Given the description of an element on the screen output the (x, y) to click on. 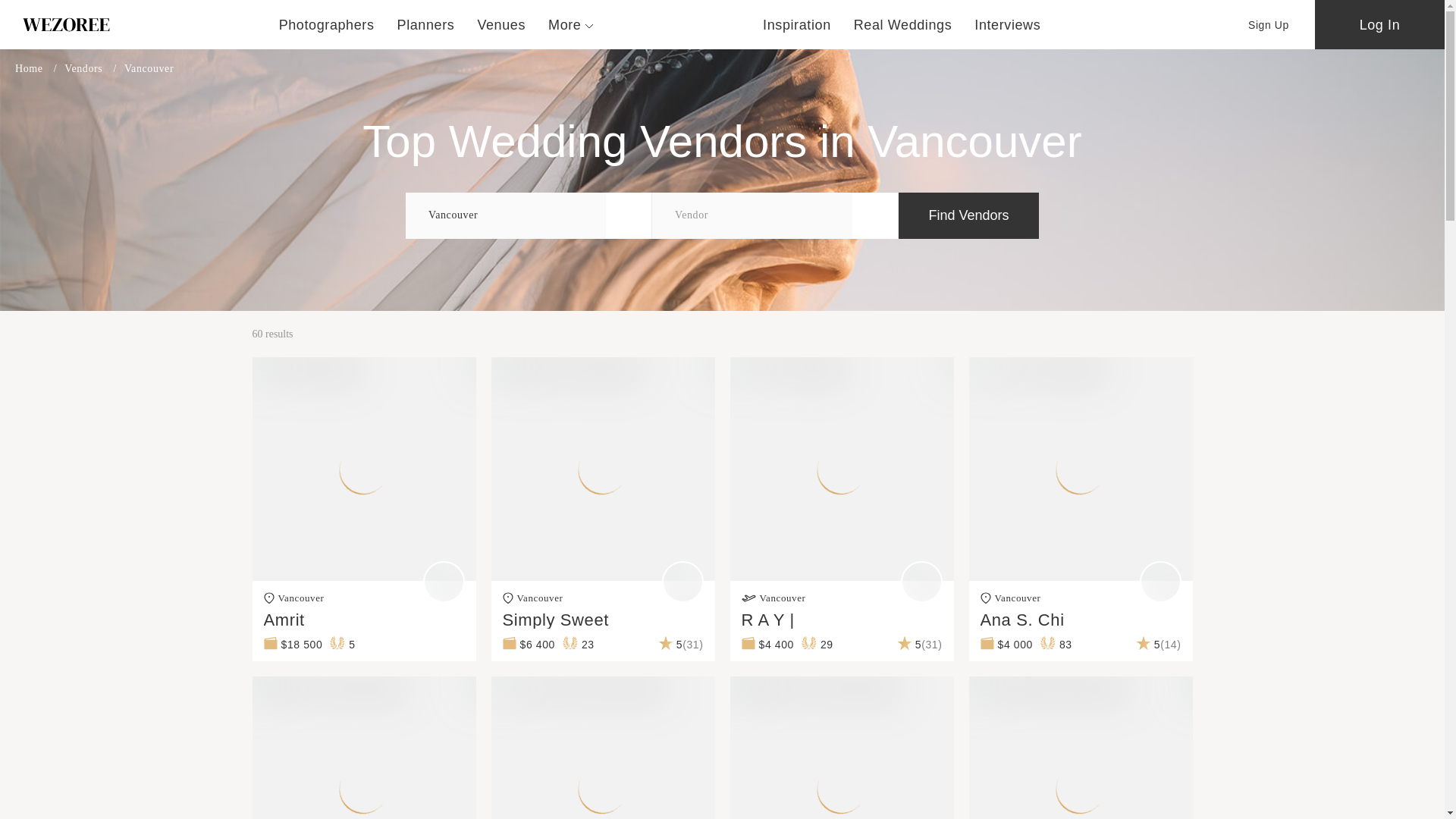
Venues (501, 24)
Home (39, 68)
Amrit Photographer (363, 368)
Simply Sweet Photographer (603, 368)
Photographers (326, 24)
Vendors (93, 68)
Real Weddings (902, 24)
Planners (425, 24)
Vancouver (505, 215)
Home (39, 68)
Interviews (1007, 24)
Inspiration (796, 24)
Simply Sweet Photographer (378, 368)
Vancouver (505, 215)
Amrit Photographer (140, 368)
